Given the description of an element on the screen output the (x, y) to click on. 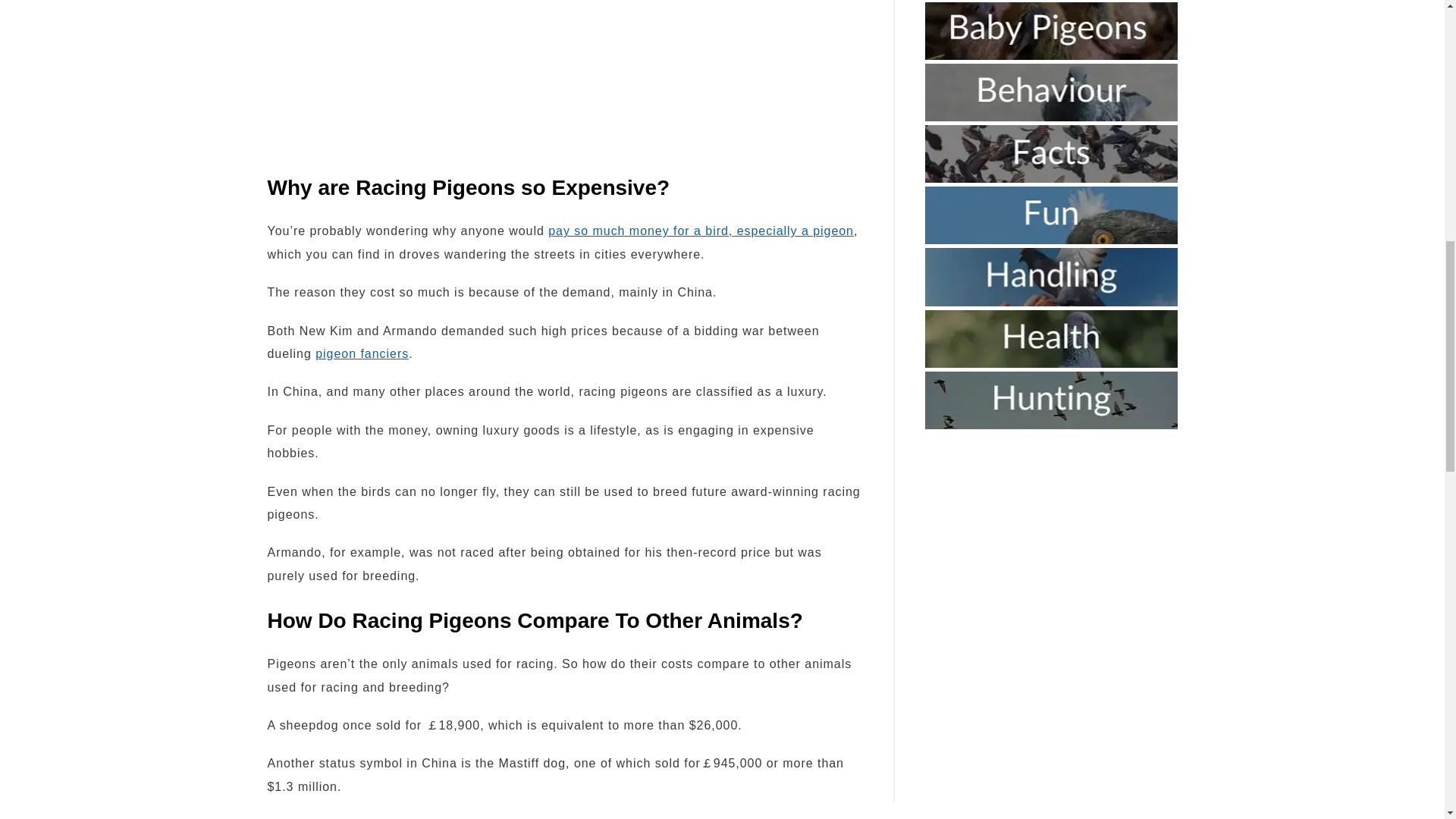
YouTube video player (478, 74)
